Given the description of an element on the screen output the (x, y) to click on. 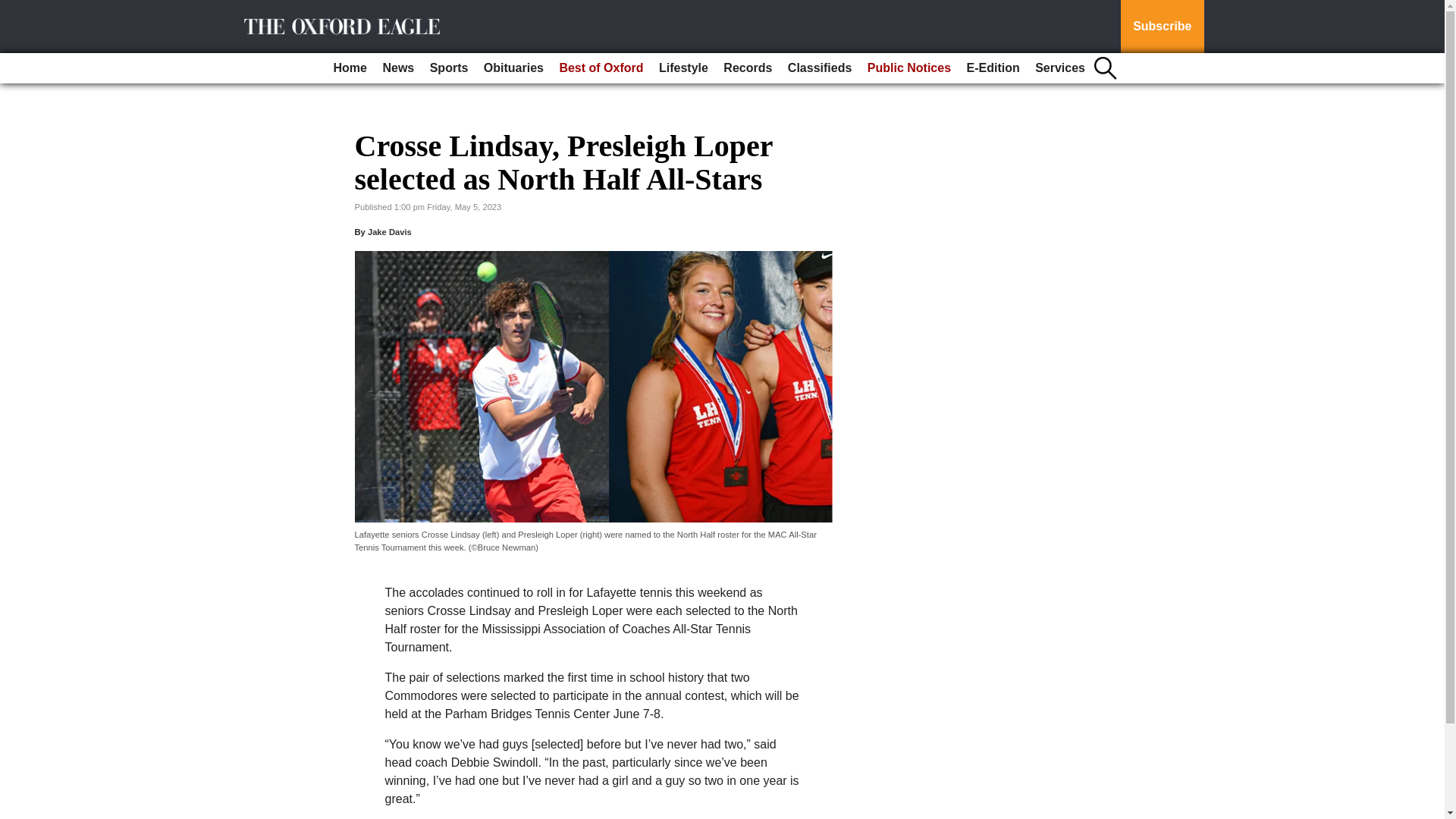
Home (349, 68)
Public Notices (908, 68)
E-Edition (992, 68)
Jake Davis (390, 231)
Subscribe (1162, 26)
Best of Oxford (601, 68)
Sports (448, 68)
News (397, 68)
Records (747, 68)
Go (13, 9)
